Given the description of an element on the screen output the (x, y) to click on. 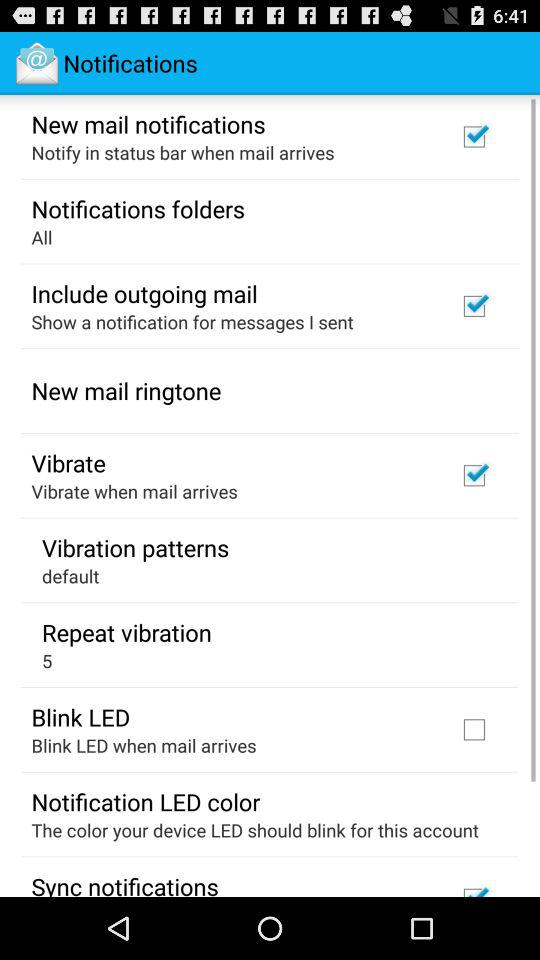
flip to repeat vibration item (126, 632)
